Given the description of an element on the screen output the (x, y) to click on. 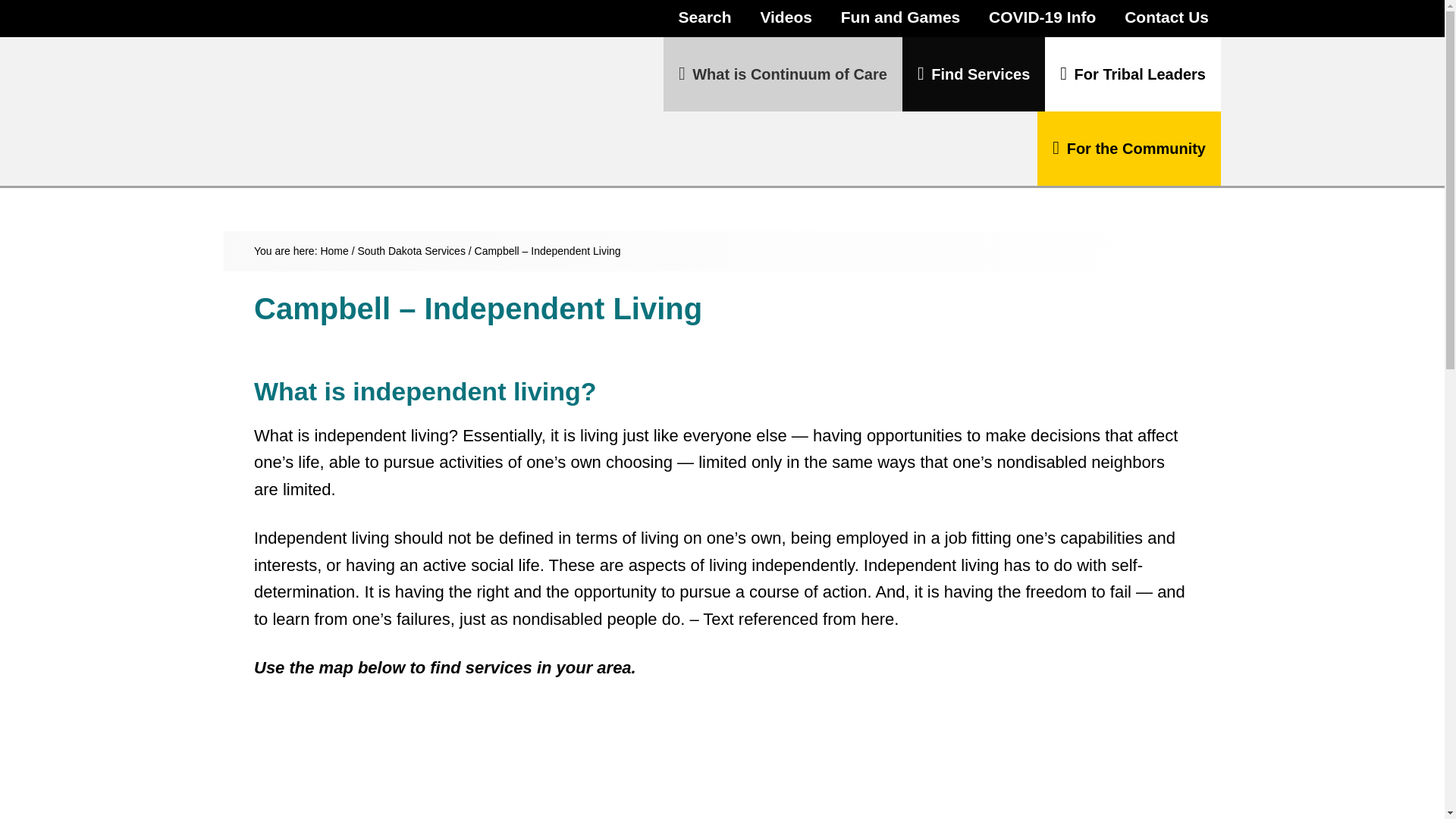
Find Services (973, 73)
Home (333, 250)
COVID-19 Info (1042, 18)
here (876, 618)
For Tribal Leaders (1133, 73)
NICOA COMPASS (353, 73)
Fun and Games (900, 18)
Search (703, 29)
What is Continuum of Care (782, 73)
Videos (786, 18)
For the Community (1128, 148)
Contact Us (1166, 18)
